Given the description of an element on the screen output the (x, y) to click on. 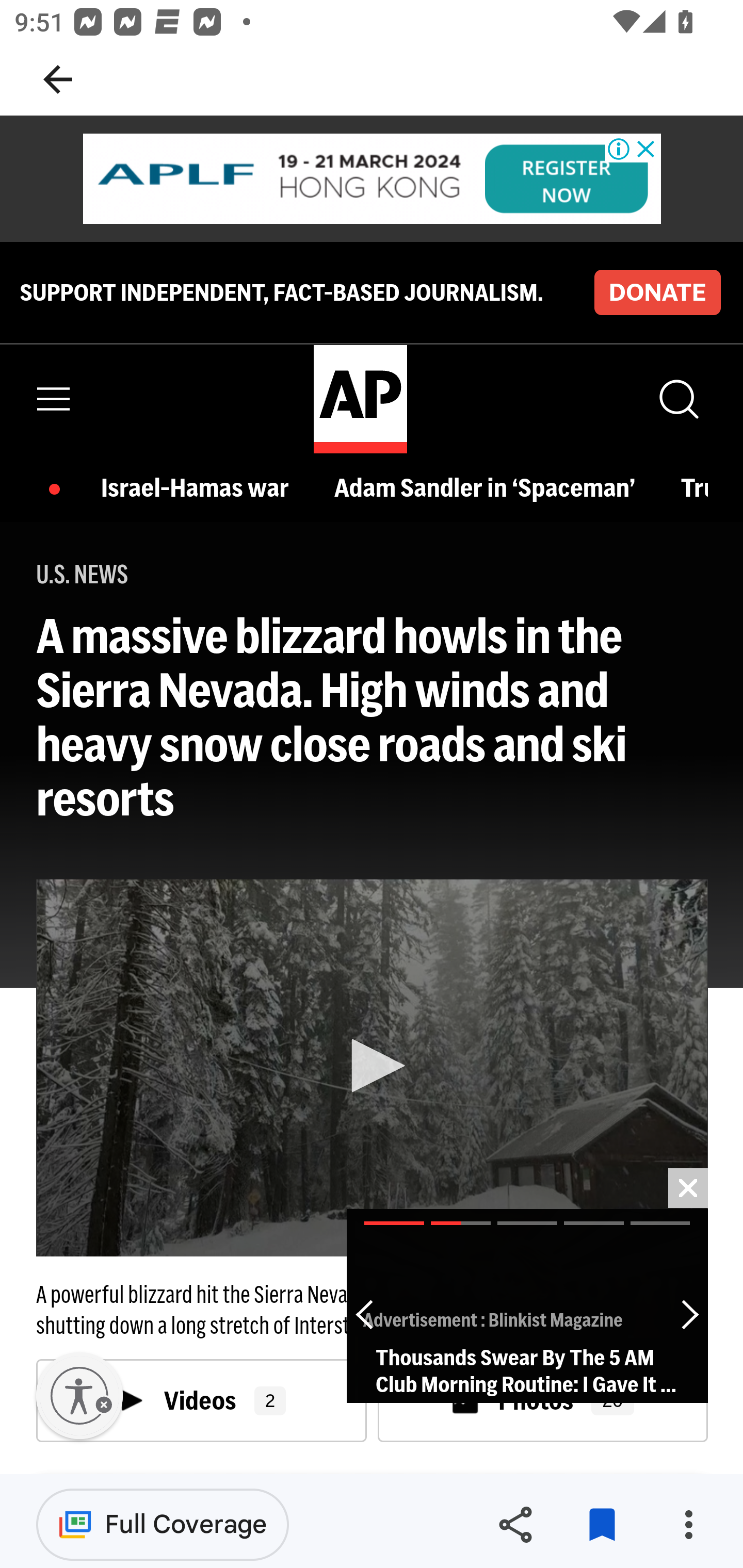
Navigate up (57, 79)
DONATE (657, 291)
home page AP Logo (359, 398)
Menu (54, 398)
Show Search (677, 398)
Israel-Hamas war (200, 487)
Adam Sandler in ‘Spaceman’ (489, 487)
U.S. NEWS (83, 574)
Play (372, 1066)
Enable accessibility (79, 1395)
Share (514, 1524)
Remove from saved stories (601, 1524)
More options (688, 1524)
Full Coverage (162, 1524)
